Given the description of an element on the screen output the (x, y) to click on. 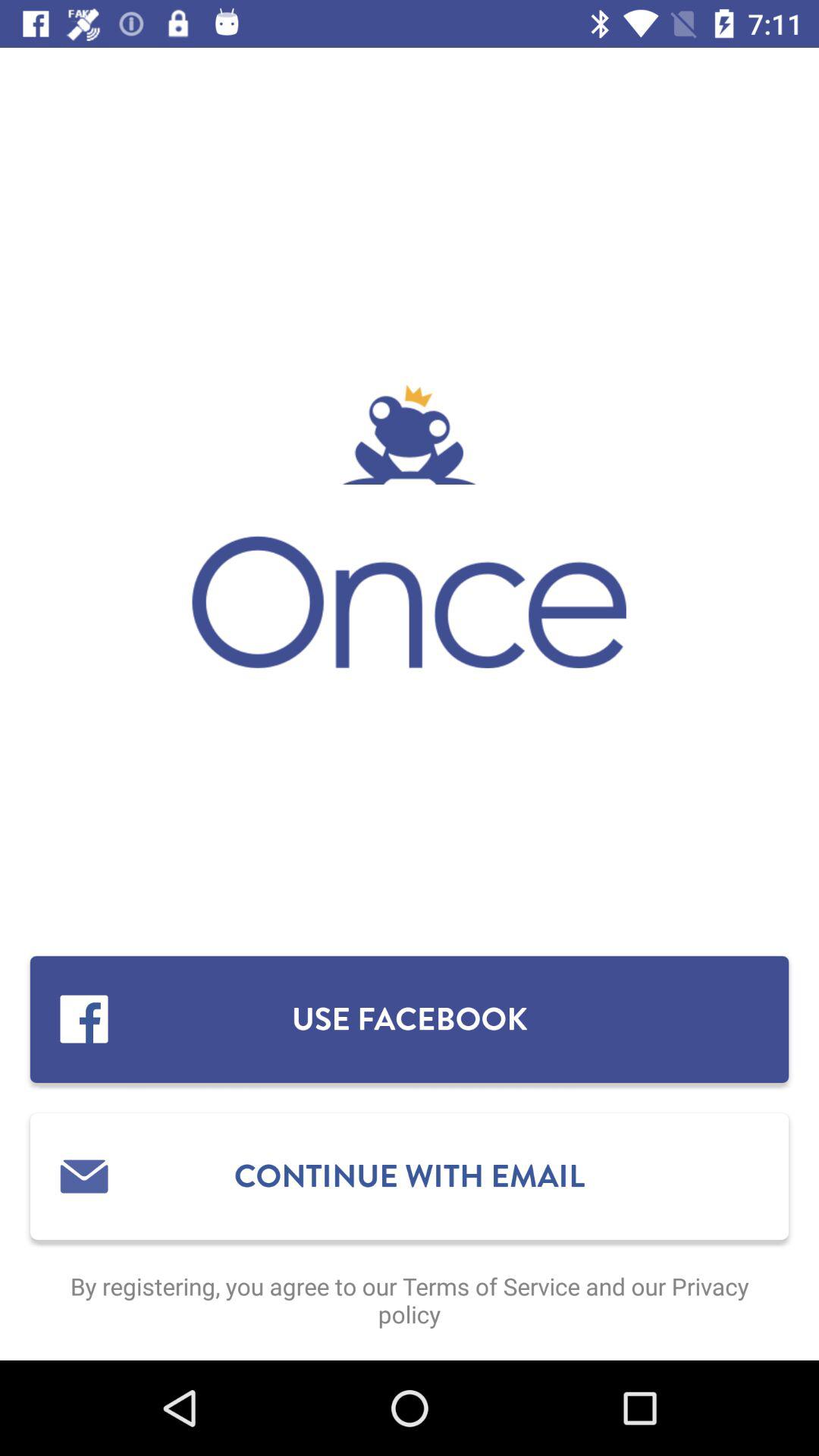
press by registering you item (409, 1300)
